Given the description of an element on the screen output the (x, y) to click on. 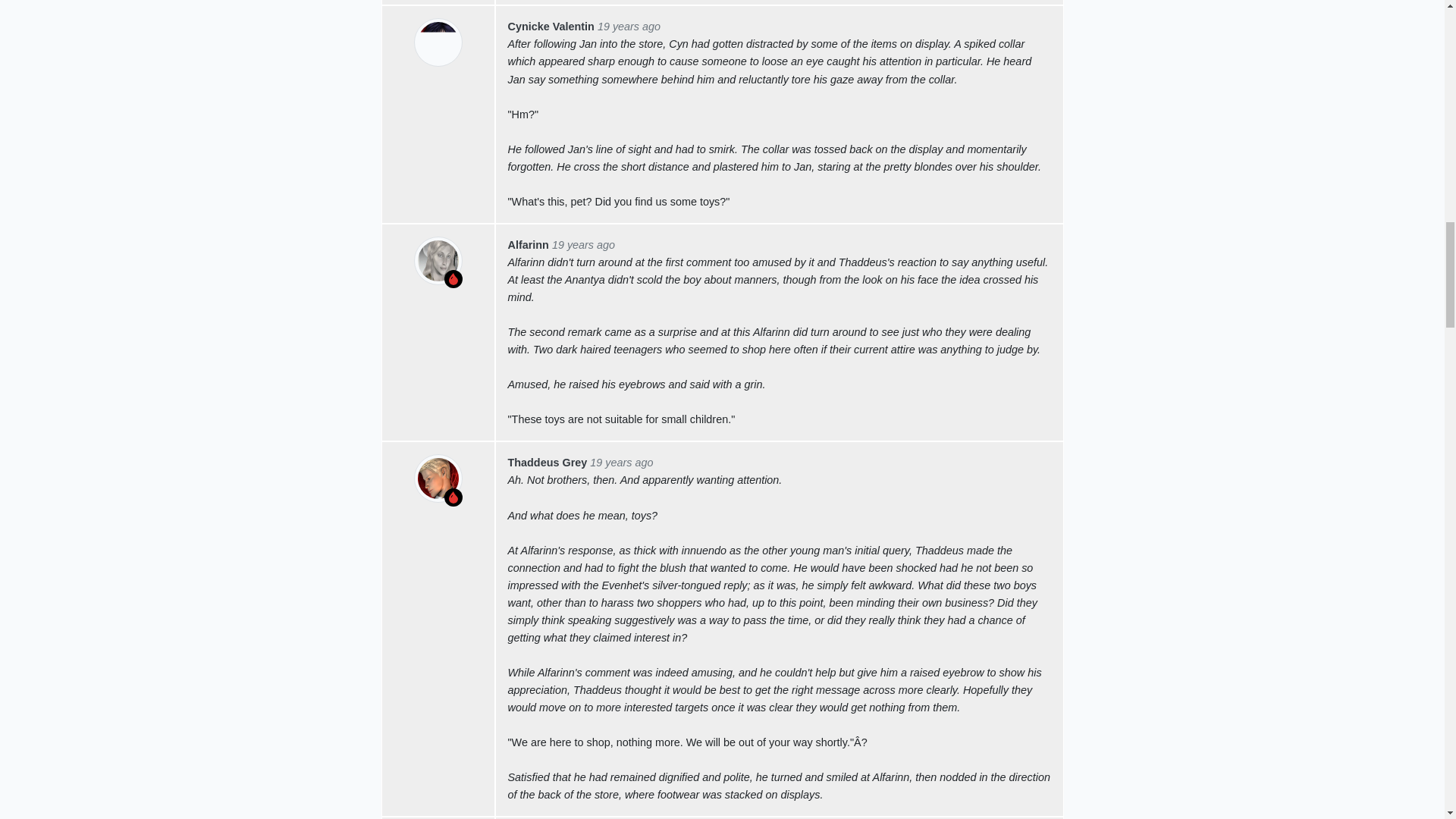
Thaddeus Grey (548, 462)
Alfarinn (528, 244)
Cynicke Valentin (551, 26)
